Given the description of an element on the screen output the (x, y) to click on. 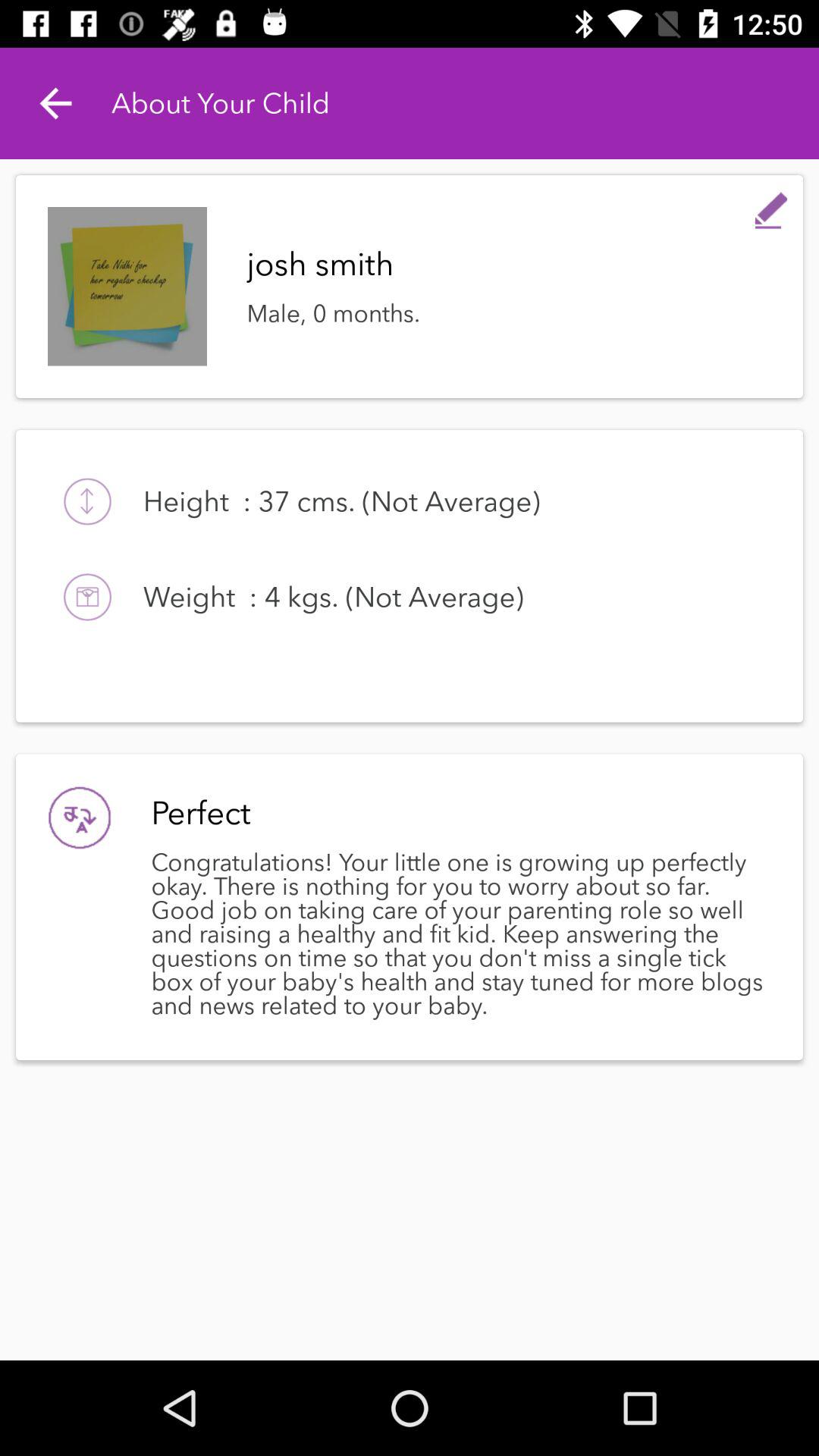
allows you to write a comment (771, 206)
